Given the description of an element on the screen output the (x, y) to click on. 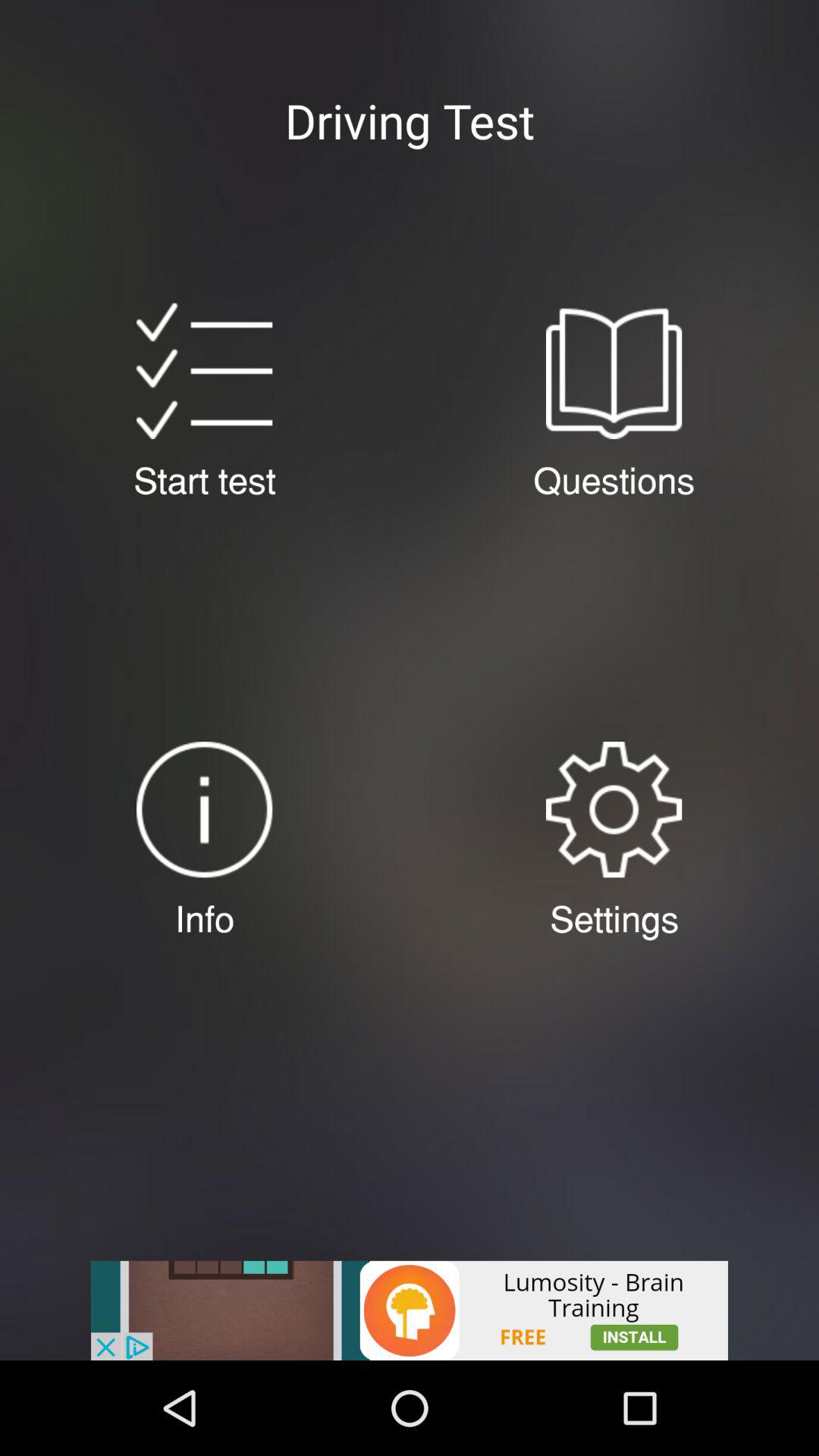
start driving test symbol (204, 371)
